Given the description of an element on the screen output the (x, y) to click on. 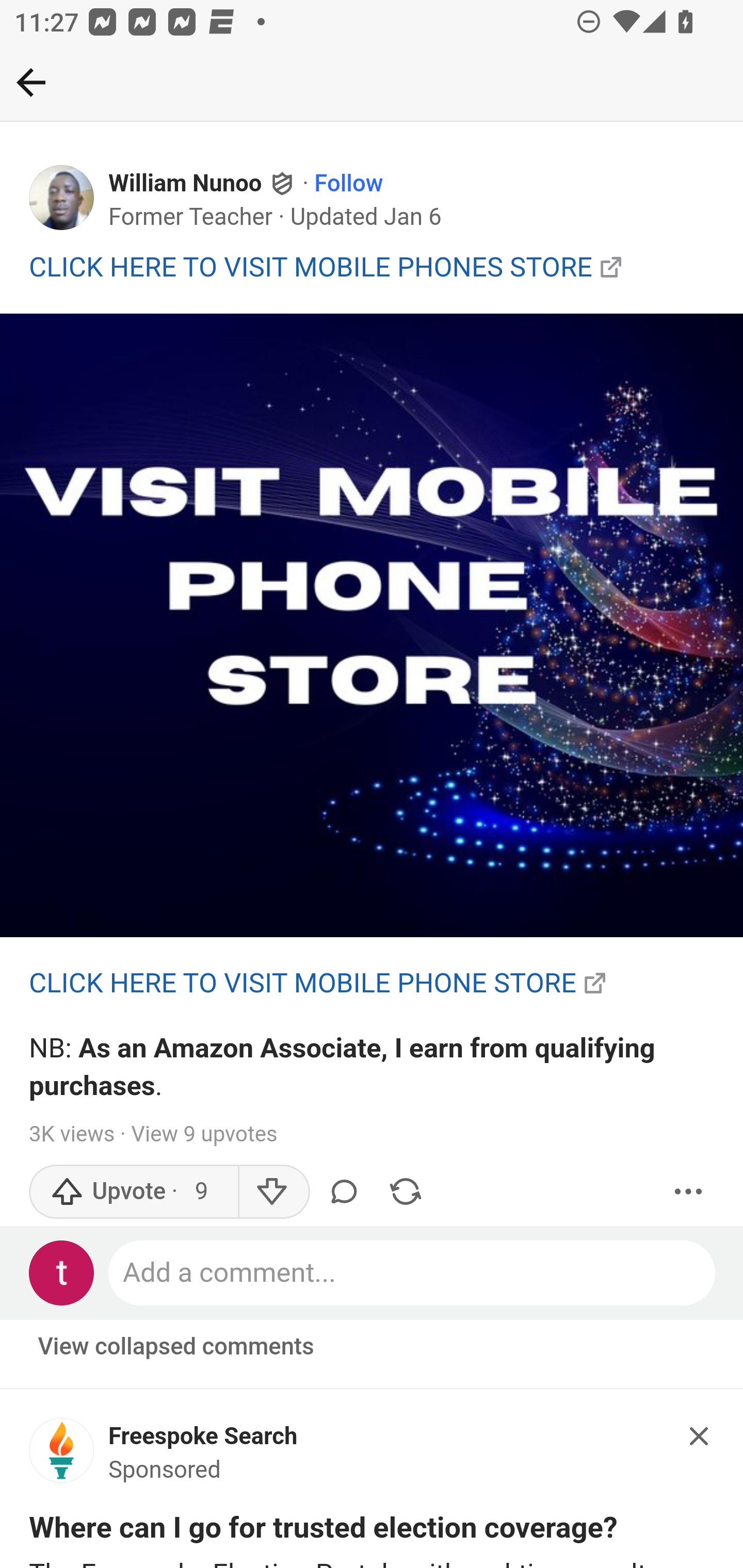
Back (30, 82)
Profile photo for William Nunoo (61, 198)
William Nunoo (185, 183)
Follow (349, 183)
CLICK HERE TO VISIT MOBILE PHONES STORE (310, 266)
main-qimg-e6cd300878b5859baa3a4fcd2af8e83d-pjlq (371, 626)
CLICK HERE TO VISIT MOBILE PHONE STORE (303, 982)
View 9 upvotes (203, 1133)
Upvote (133, 1191)
Downvote (273, 1191)
Comment (346, 1191)
Share (405, 1191)
More (688, 1191)
Profile photo for Test Appium (61, 1272)
Add a comment... (412, 1272)
View collapsed comments (176, 1346)
Hide (699, 1436)
main-qimg-784c0b59c1772b60fd46a882711c92a8 (61, 1455)
Freespoke Search (202, 1436)
Sponsored (165, 1470)
Where can I go for trusted election coverage? (323, 1531)
